Given the description of an element on the screen output the (x, y) to click on. 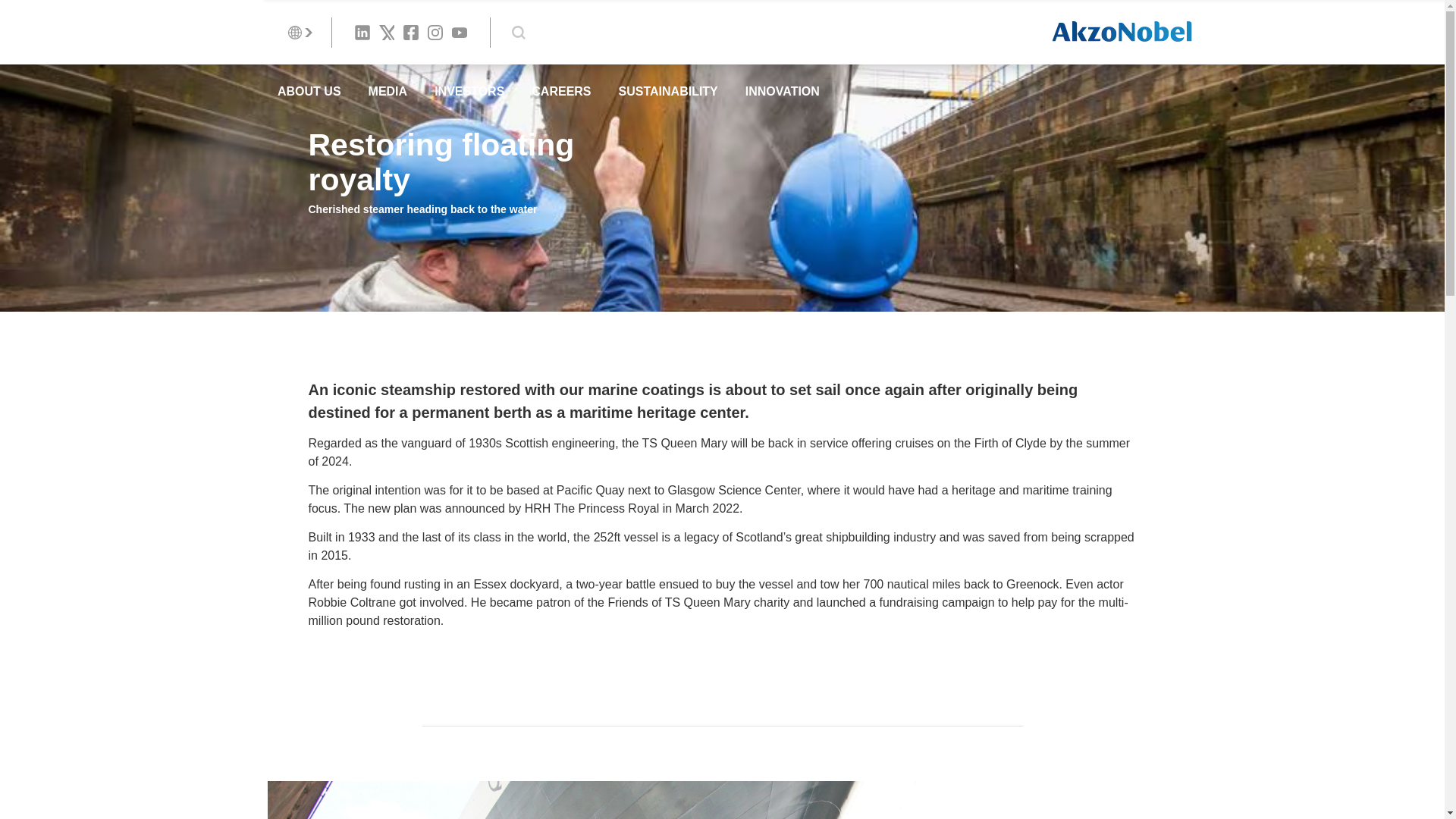
CAREERS (561, 91)
MEDIA (387, 91)
INNOVATION (782, 91)
SUSTAINABILITY (667, 91)
INVESTORS (468, 91)
ABOUT US (309, 91)
